Given the description of an element on the screen output the (x, y) to click on. 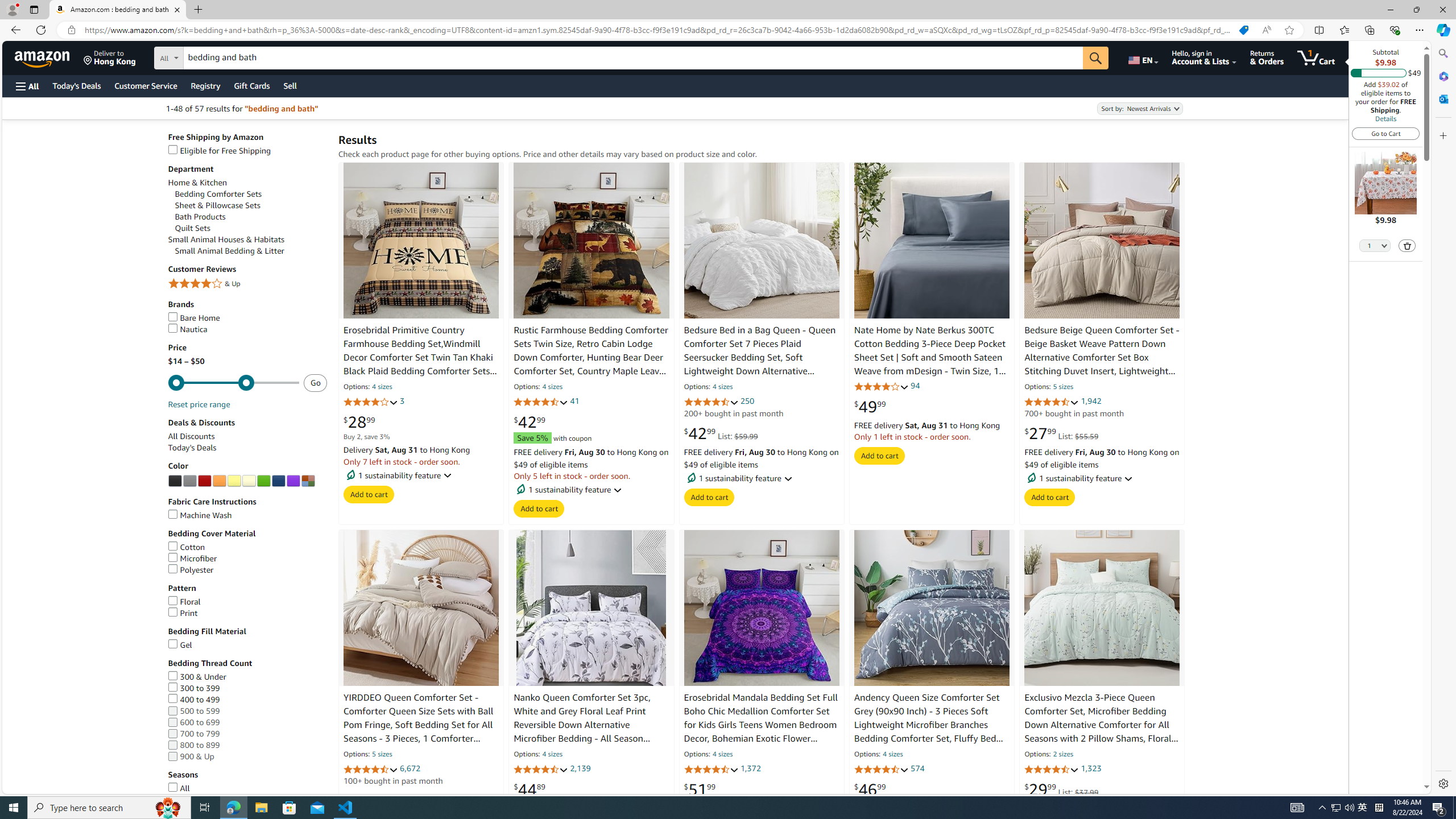
Go - Submit price range (315, 382)
500 to 599 (247, 710)
4.4 out of 5 stars (1051, 769)
6,672 (410, 768)
Amazon.com : bedding and bath (117, 9)
 1 sustainability feature (1102, 478)
Registry (205, 85)
Bath Products (250, 216)
$49.99 (869, 406)
$51.99 (700, 789)
Gift Cards (251, 85)
